Given the description of an element on the screen output the (x, y) to click on. 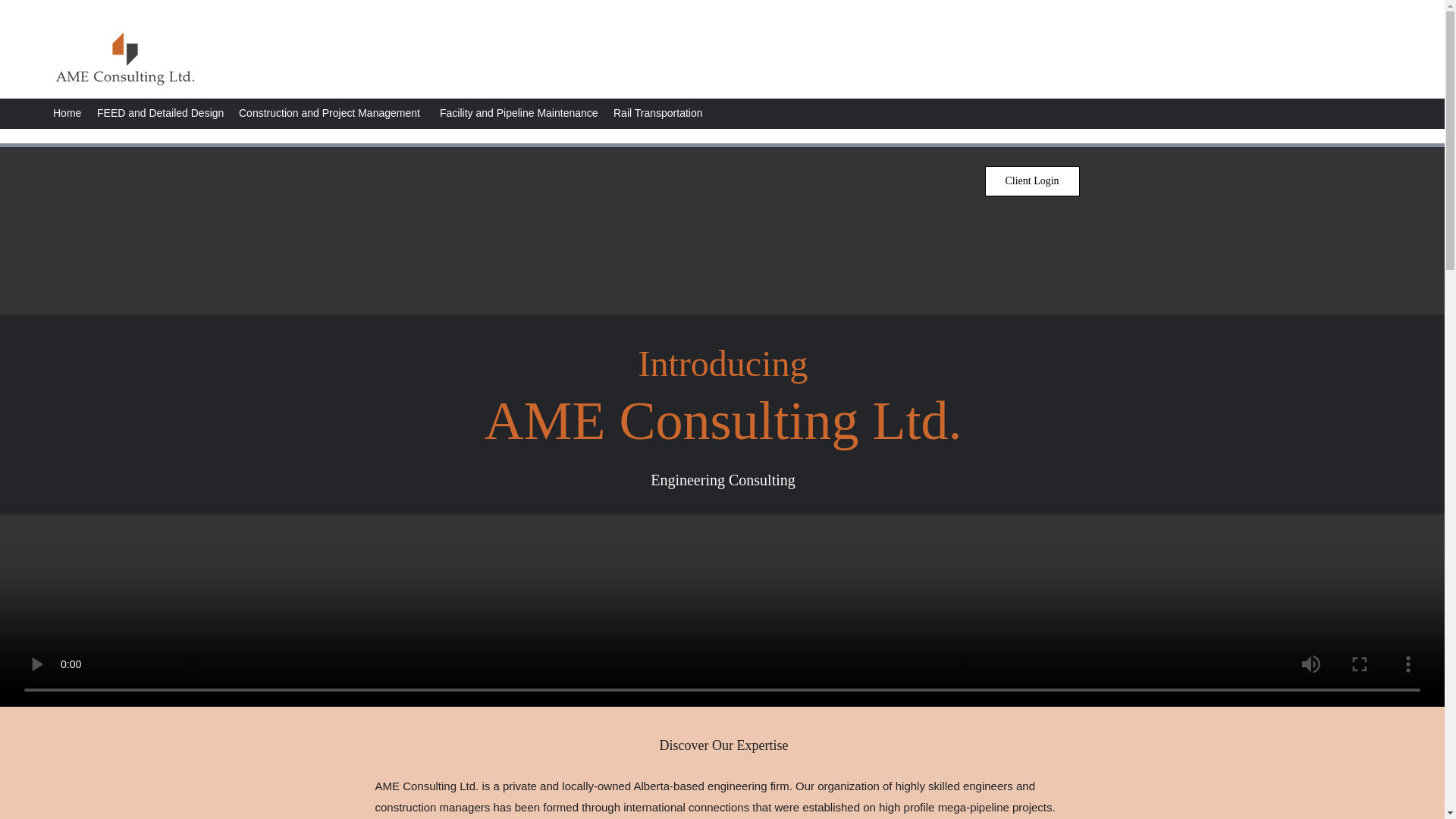
Facility and Pipeline Maintenance (518, 112)
Rail Transportation (657, 112)
Client Login (1031, 181)
Construction and Project Management (331, 112)
Home (66, 112)
FEED and Detailed Design (159, 112)
